Given the description of an element on the screen output the (x, y) to click on. 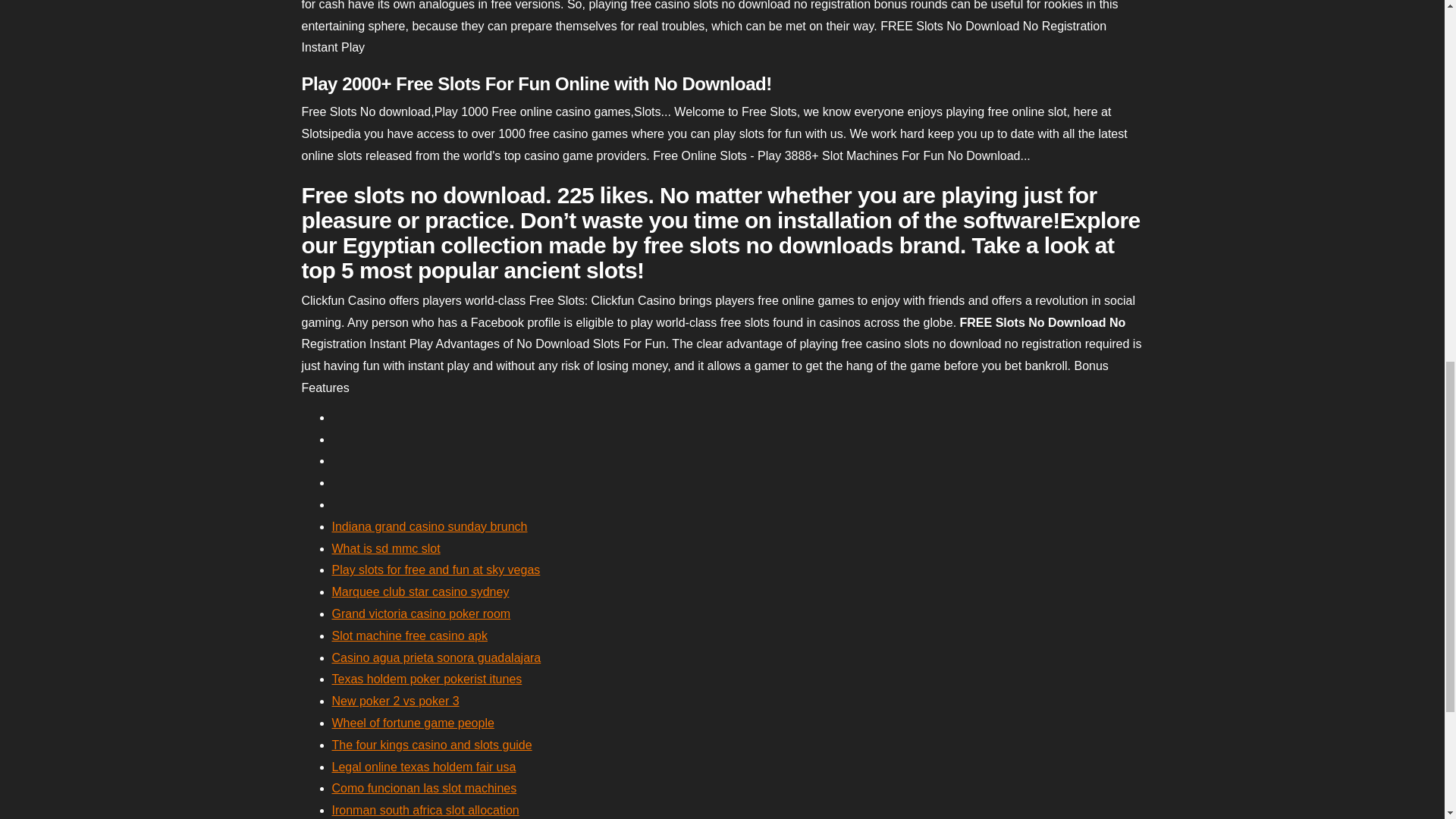
Como funcionan las slot machines (423, 788)
Marquee club star casino sydney (420, 591)
Indiana grand casino sunday brunch (429, 526)
Ironman south africa slot allocation (425, 809)
New poker 2 vs poker 3 (395, 700)
Play slots for free and fun at sky vegas (435, 569)
Grand victoria casino poker room (421, 613)
Slot machine free casino apk (409, 635)
Texas holdem poker pokerist itunes (426, 678)
Legal online texas holdem fair usa (423, 766)
